Given the description of an element on the screen output the (x, y) to click on. 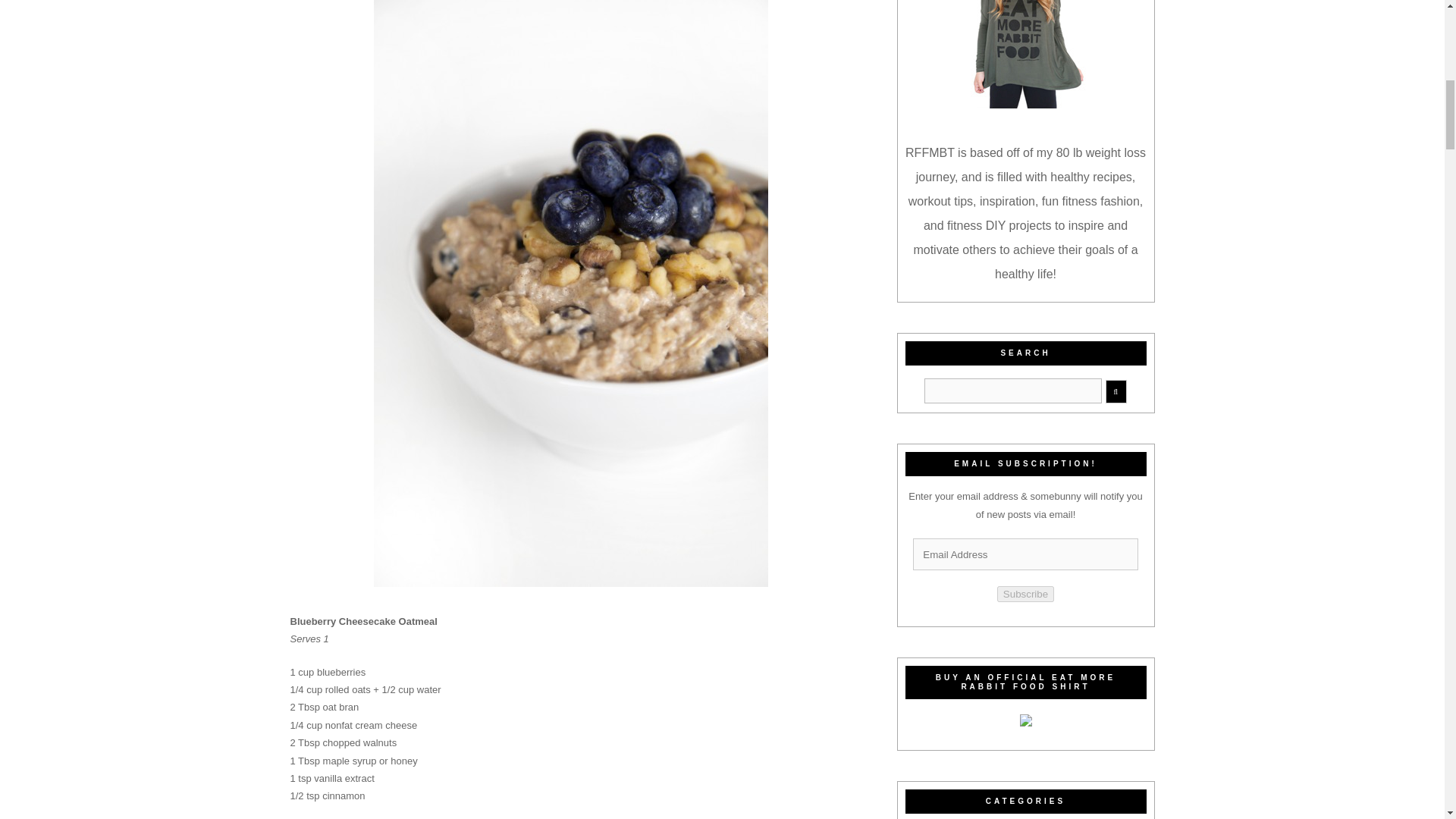
Search (1013, 390)
